Given the description of an element on the screen output the (x, y) to click on. 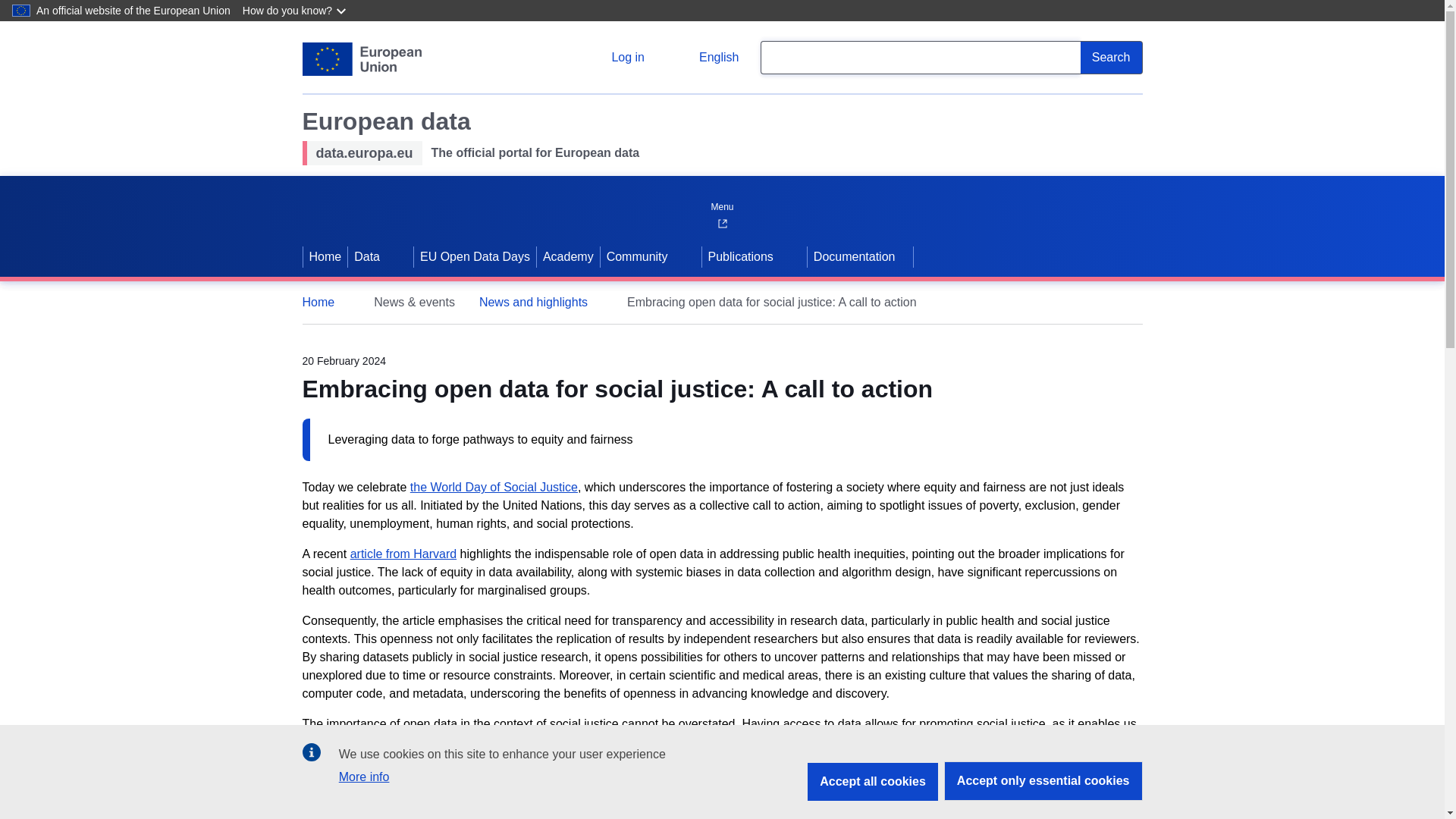
Search (1111, 57)
Community (635, 256)
EU Open Data Days (474, 256)
English (706, 57)
Publications (738, 256)
Log in (615, 57)
Academy (568, 256)
European Union (361, 59)
Home (325, 302)
